Given the description of an element on the screen output the (x, y) to click on. 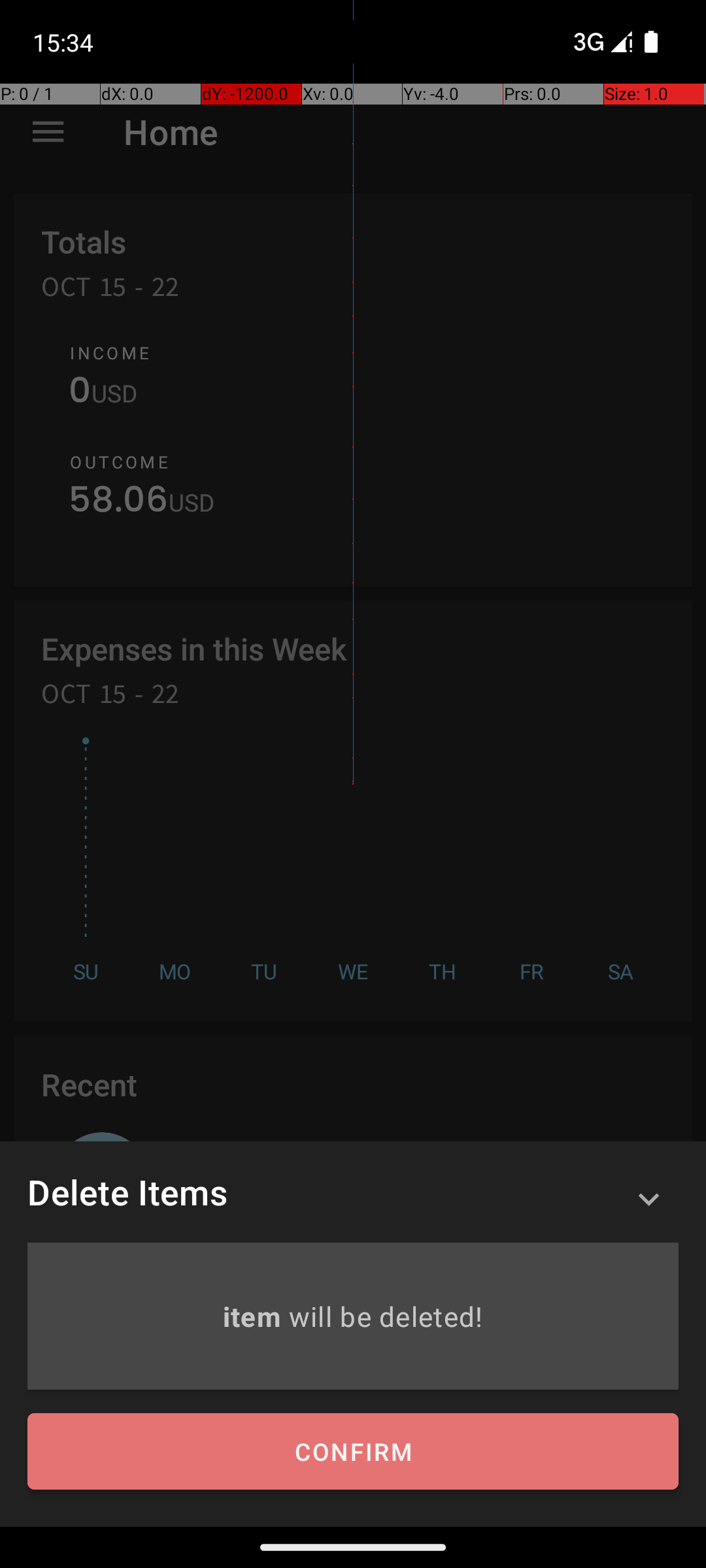
Delete Items Element type: android.widget.TextView (127, 1191)
item  Element type: android.widget.TextView (255, 1315)
will be deleted! Element type: android.widget.TextView (385, 1315)
CONFIRM Element type: android.widget.Button (352, 1451)
